Given the description of an element on the screen output the (x, y) to click on. 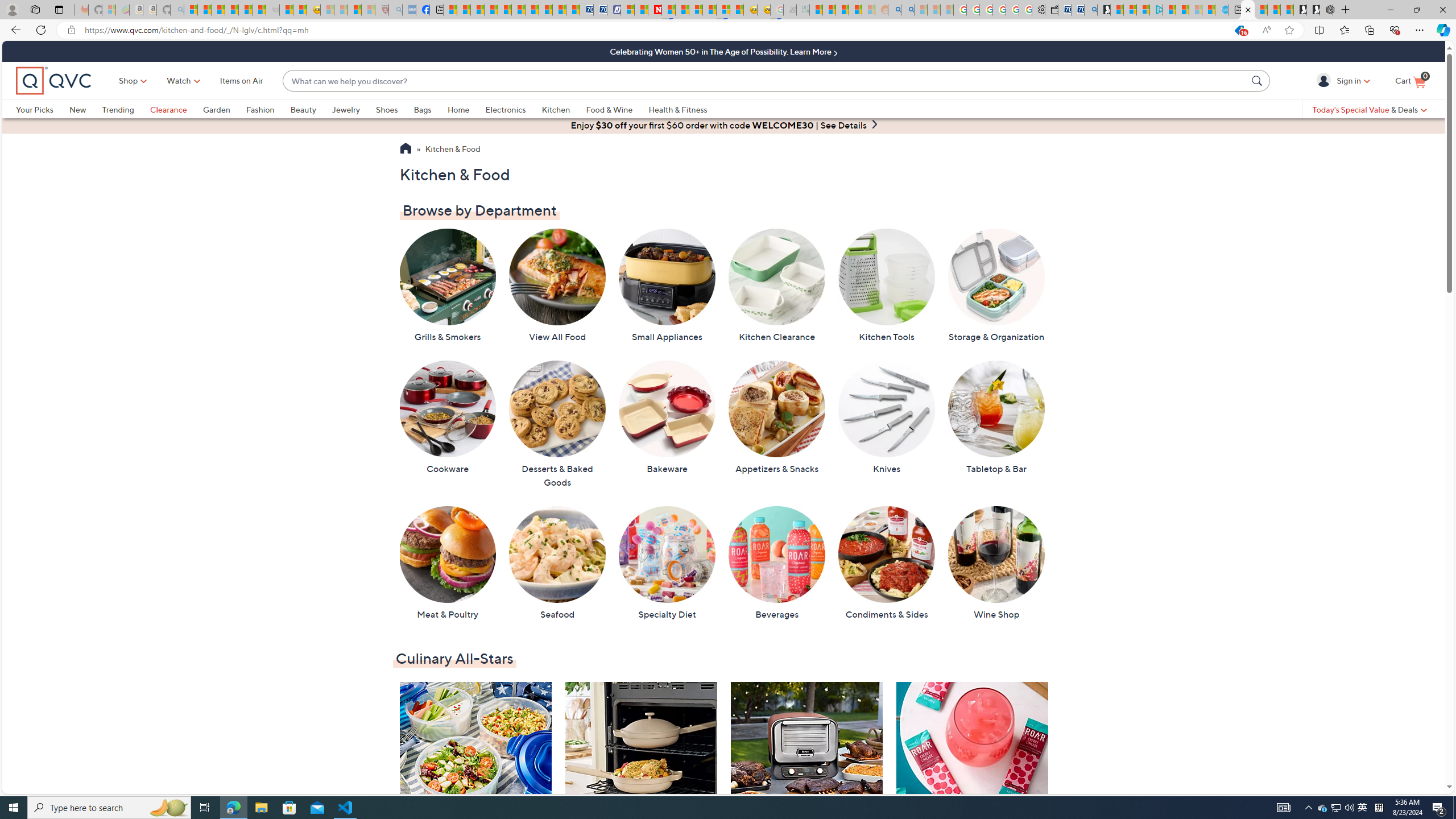
Grills & Smokers (447, 285)
Meat & Poultry (447, 562)
QVC home (53, 80)
Wine Shop (996, 562)
